Given the description of an element on the screen output the (x, y) to click on. 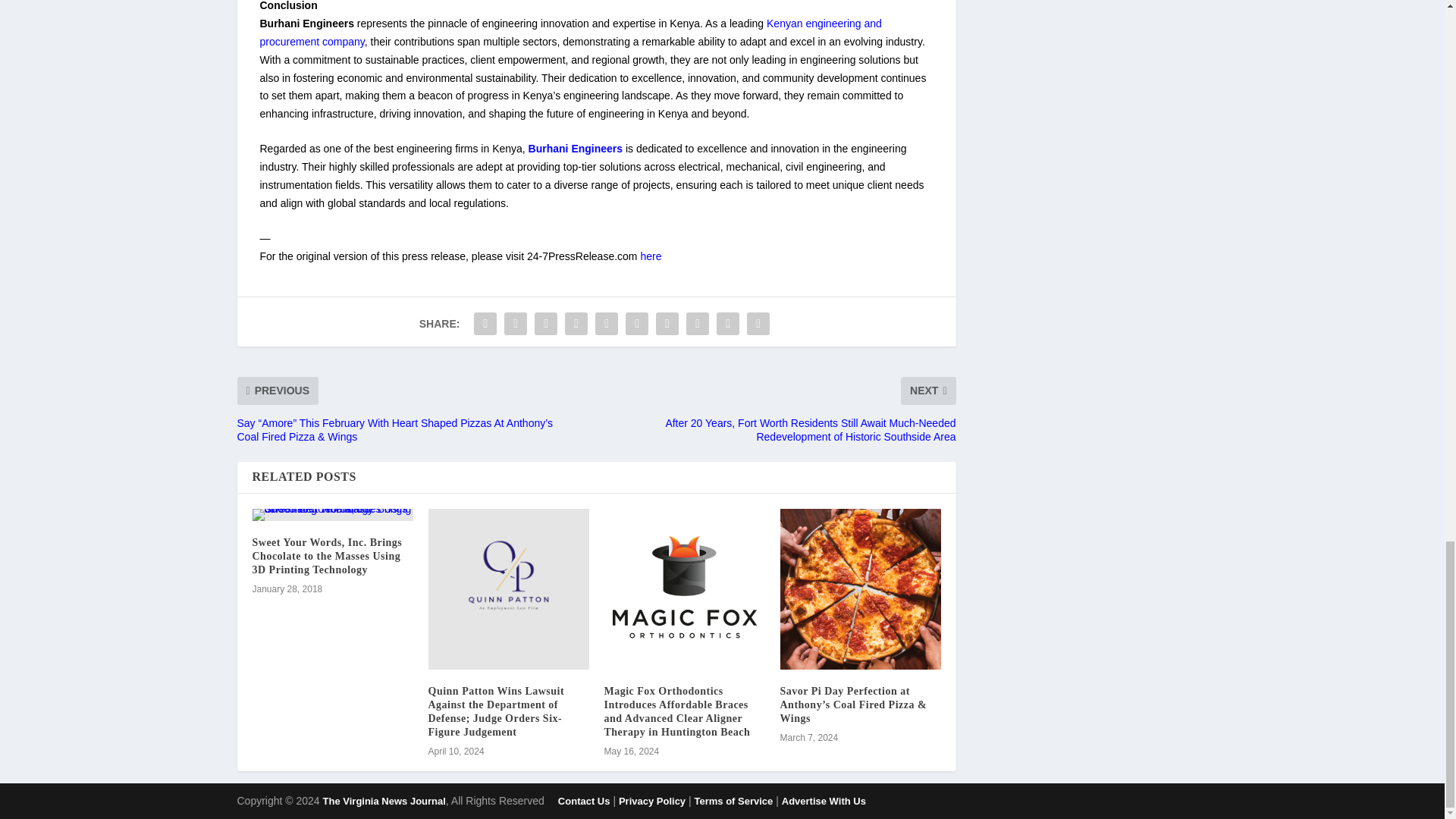
Kenyan engineering and procurement company (569, 32)
here (650, 256)
Burhani Engineers (575, 148)
